Given the description of an element on the screen output the (x, y) to click on. 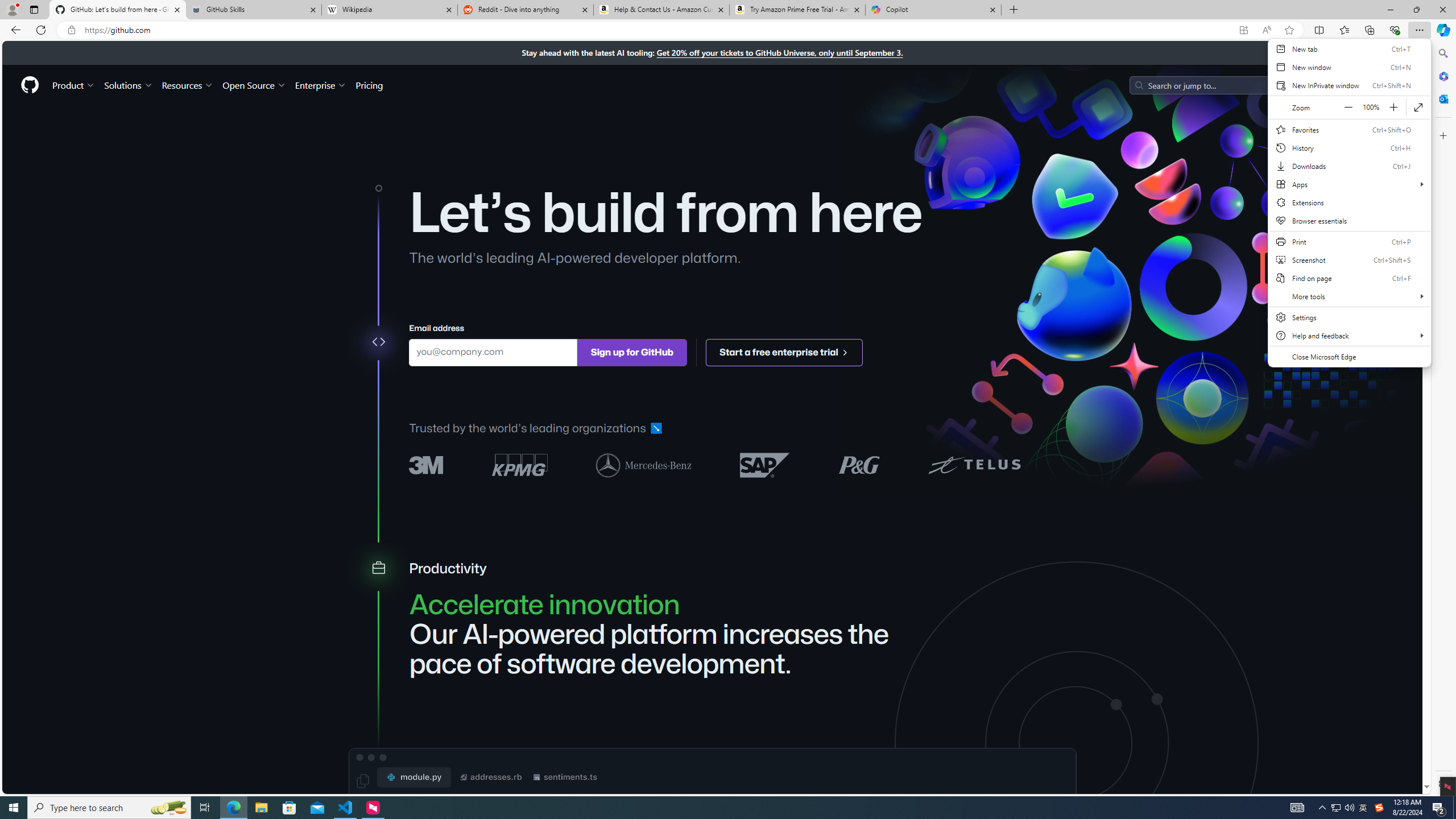
Settings and more (1349, 202)
Close Microsoft Edge (1349, 356)
